Given the description of an element on the screen output the (x, y) to click on. 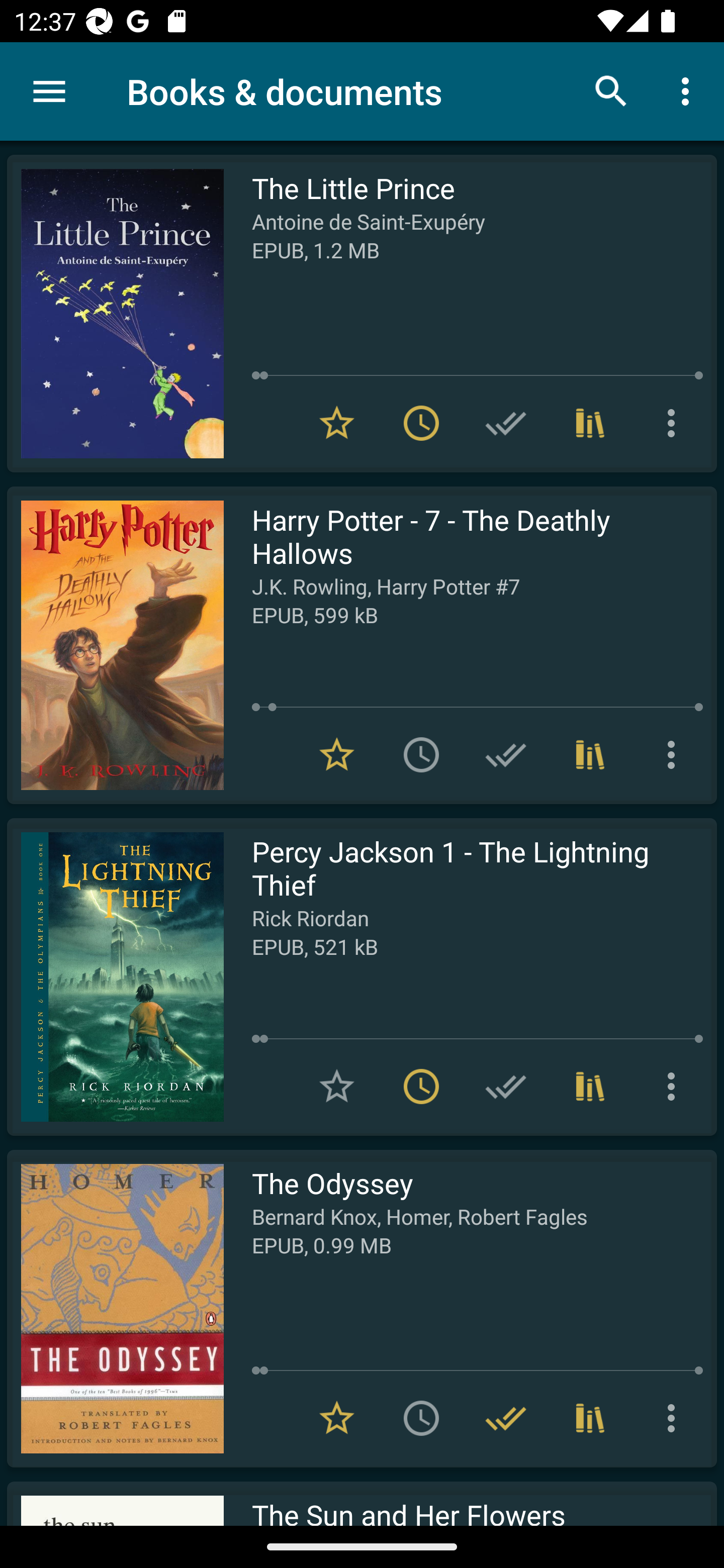
Menu (49, 91)
Search books & documents (611, 90)
More options (688, 90)
Read The Little Prince (115, 313)
Remove from Favorites (336, 423)
Remove from To read (421, 423)
Add to Have read (505, 423)
Collections (1) (590, 423)
More options (674, 423)
Read Harry Potter - 7 - The Deathly Hallows (115, 645)
Remove from Favorites (336, 753)
Add to To read (421, 753)
Add to Have read (505, 753)
Collections (3) (590, 753)
More options (674, 753)
Read Percy Jackson 1 - The Lightning Thief (115, 976)
Add to Favorites (336, 1086)
